Given the description of an element on the screen output the (x, y) to click on. 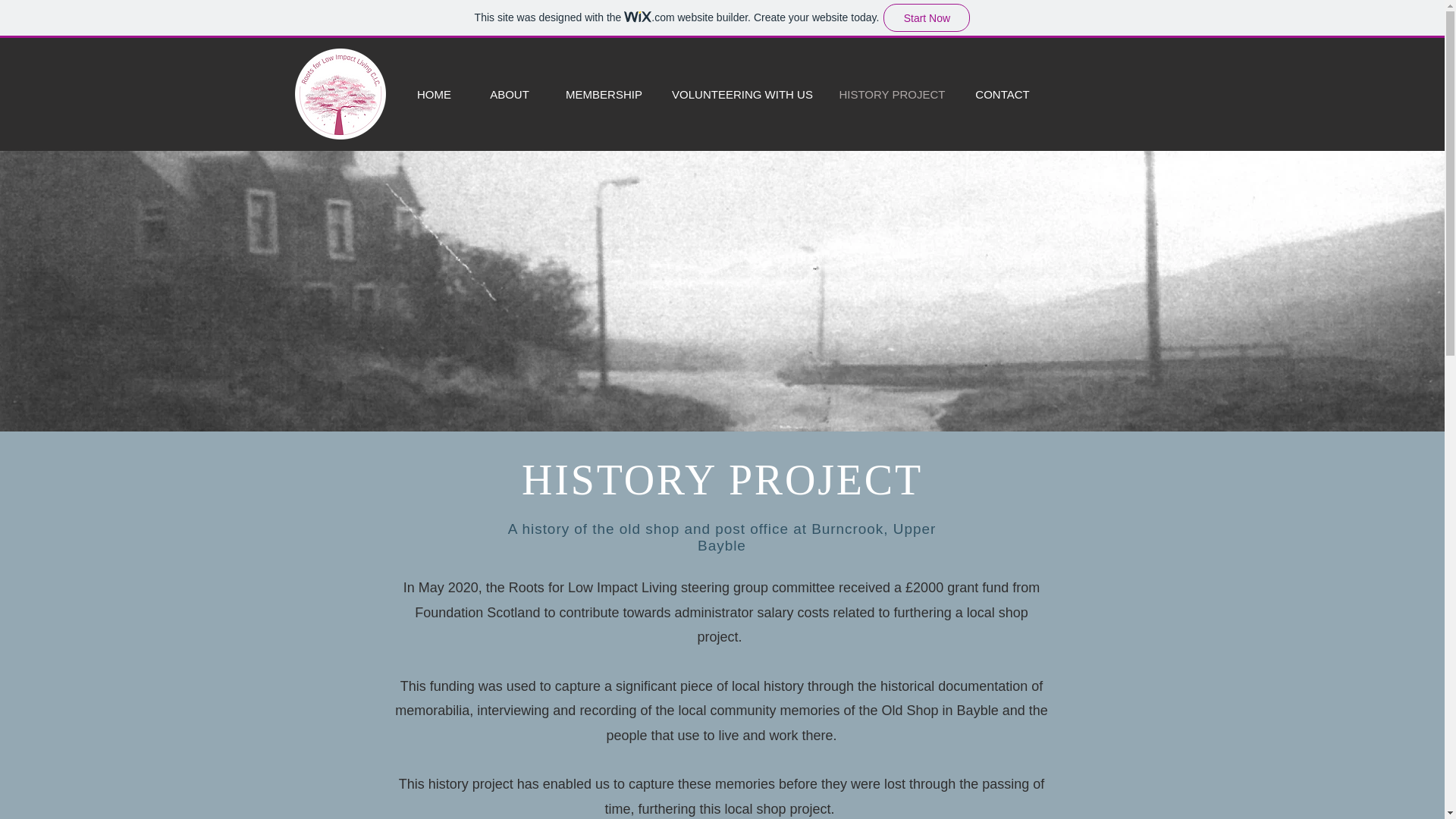
HOME (433, 94)
ABOUT (509, 94)
HISTORY PROJECT (891, 94)
VOLUNTEERING WITH US (742, 94)
MEMBERSHIP (603, 94)
CONTACT (1001, 94)
